Given the description of an element on the screen output the (x, y) to click on. 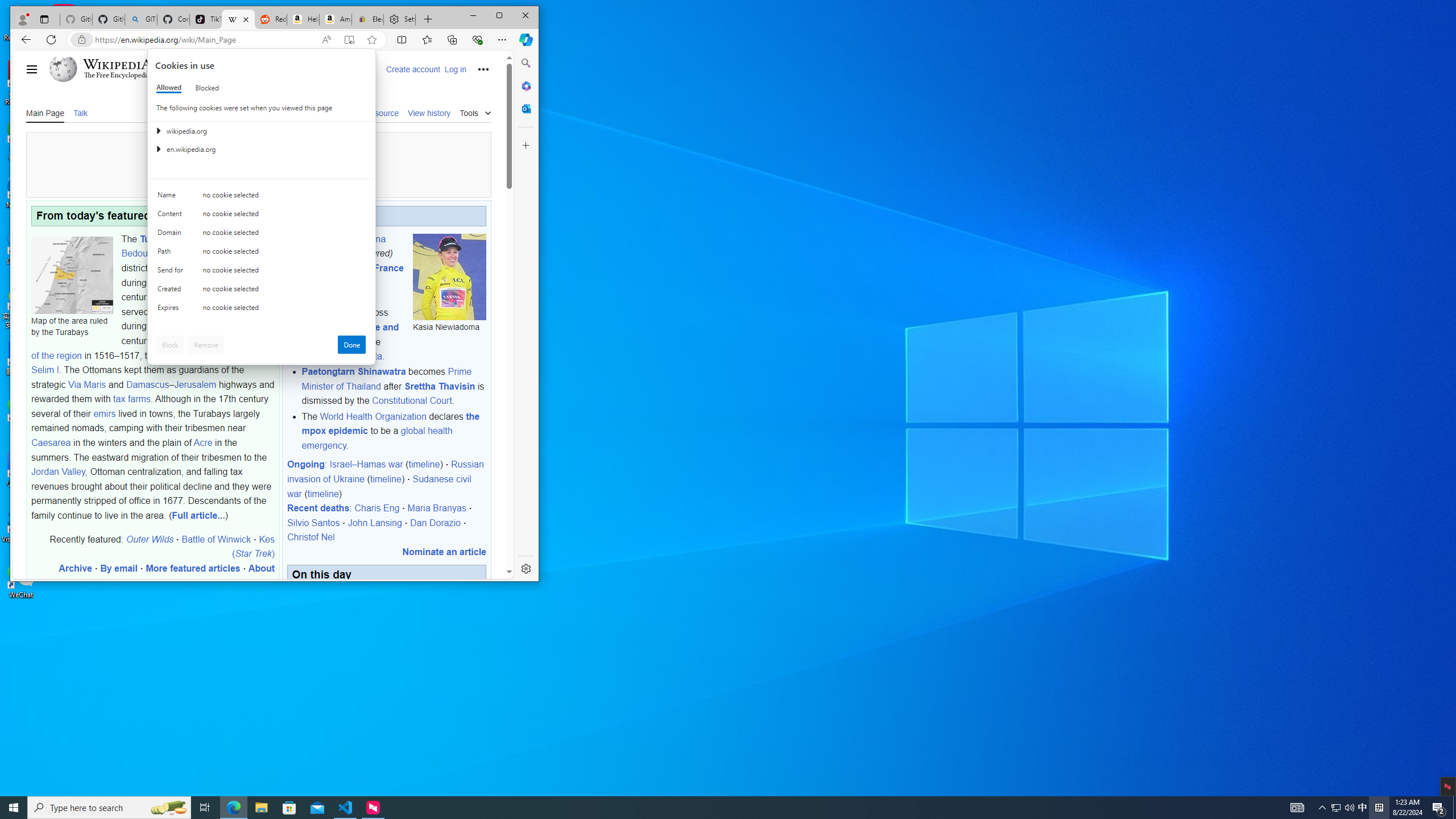
Content (172, 216)
Path (172, 253)
Type here to search (108, 807)
Block (169, 344)
Action Center, 2 new notifications (1439, 807)
Allowed (169, 87)
AutomationID: 4105 (1335, 807)
Task View (1297, 807)
Q2790: 100% (204, 807)
Tray Input Indicator - Chinese (Simplified, China) (1349, 807)
Microsoft Edge - 1 running window (1378, 807)
no cookie selected (233, 807)
File Explorer (284, 310)
